Given the description of an element on the screen output the (x, y) to click on. 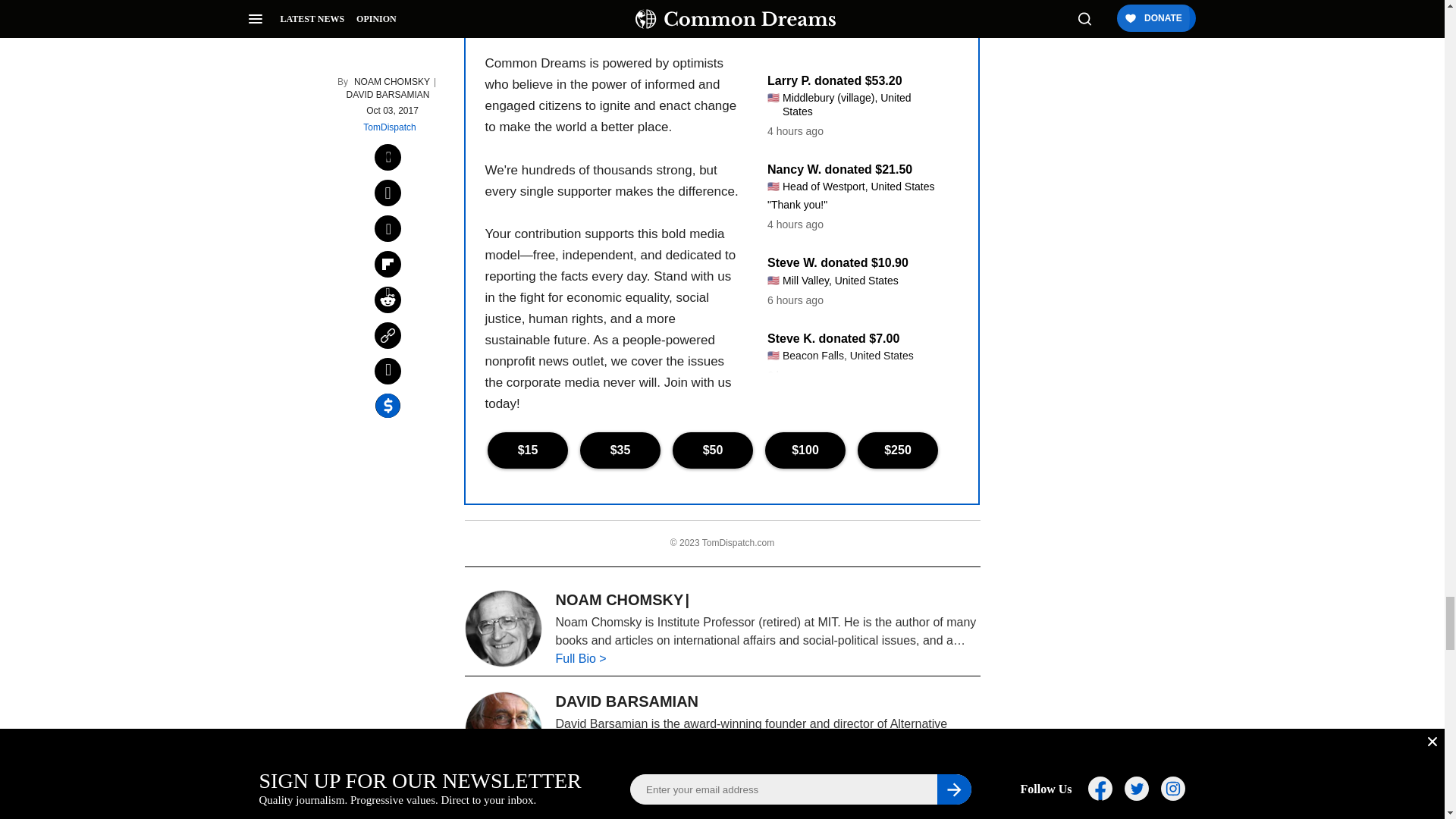
Recent Donations (852, 214)
Donate Button Group (721, 450)
